Given the description of an element on the screen output the (x, y) to click on. 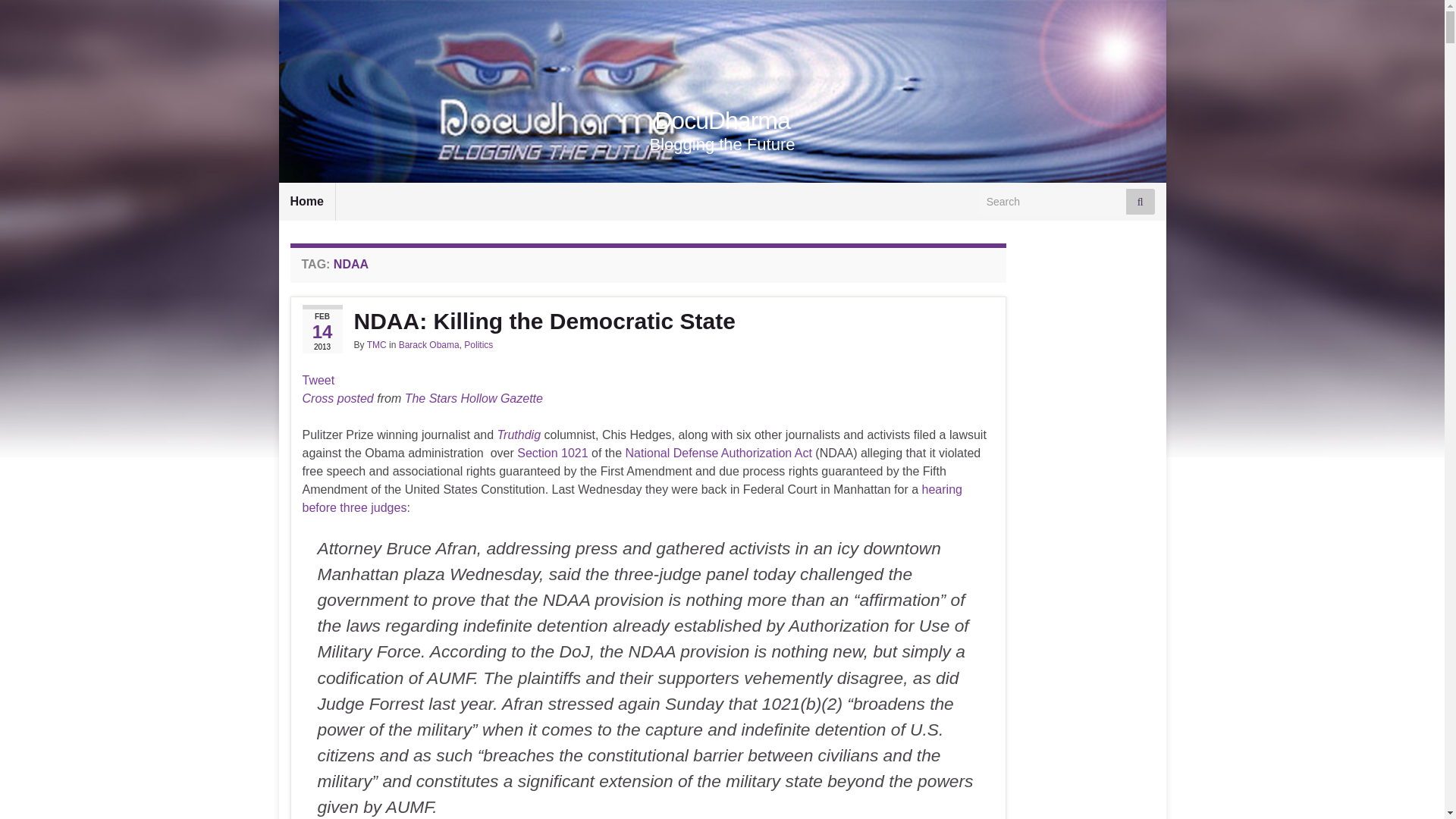
Permalink to NDAA: Killing the Democratic State (647, 321)
National Defense Authorization Act (719, 452)
Politics (478, 344)
Barack Obama (429, 344)
Home (306, 201)
hearing before three judges (630, 498)
Section 1021 (552, 452)
Go back to the front page (721, 120)
Cross posted (336, 398)
Truthdig (519, 434)
